Given the description of an element on the screen output the (x, y) to click on. 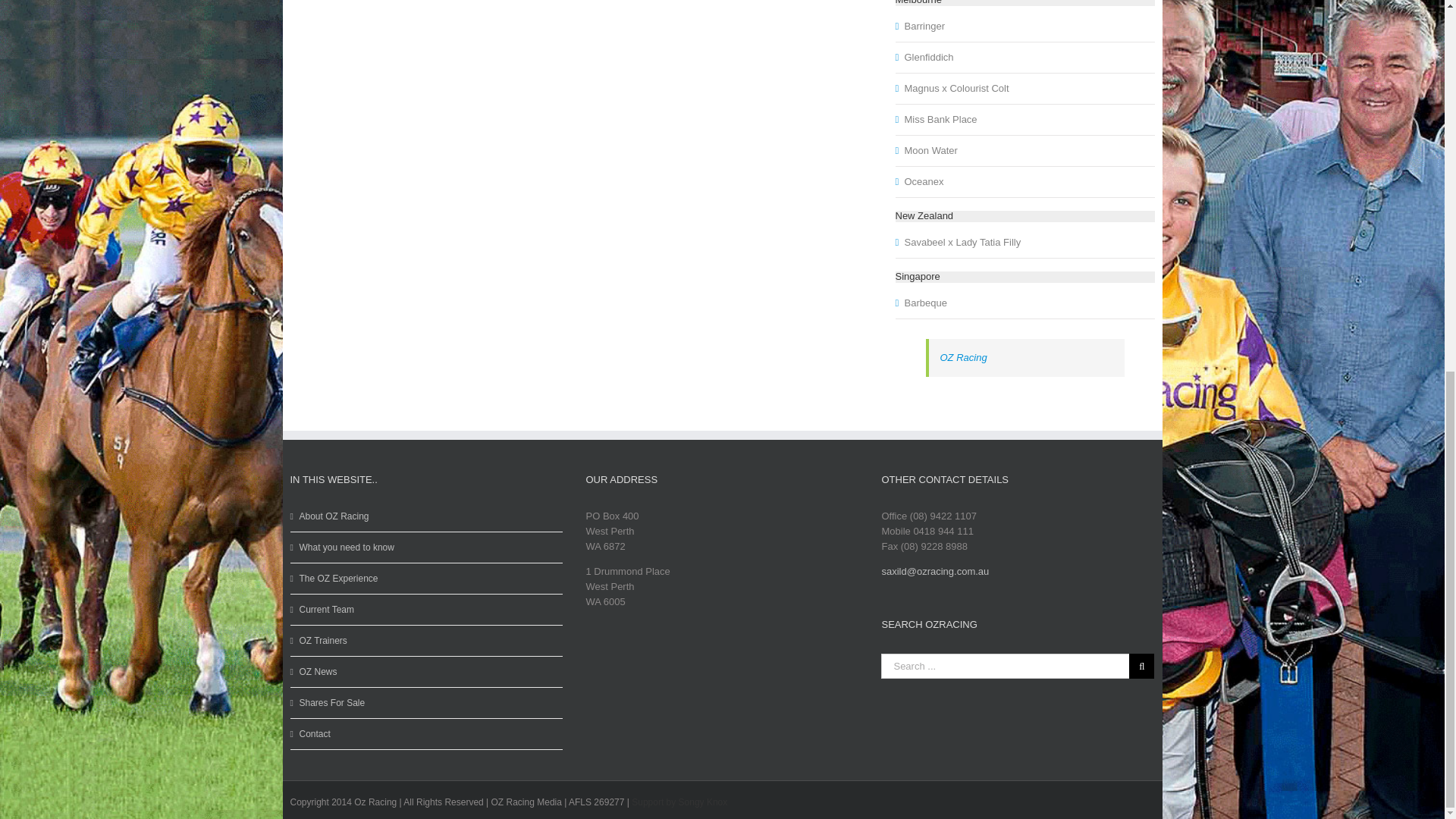
Glenfiddich (930, 56)
Barringer (925, 26)
Magnus x Colourist Colt (957, 87)
